Given the description of an element on the screen output the (x, y) to click on. 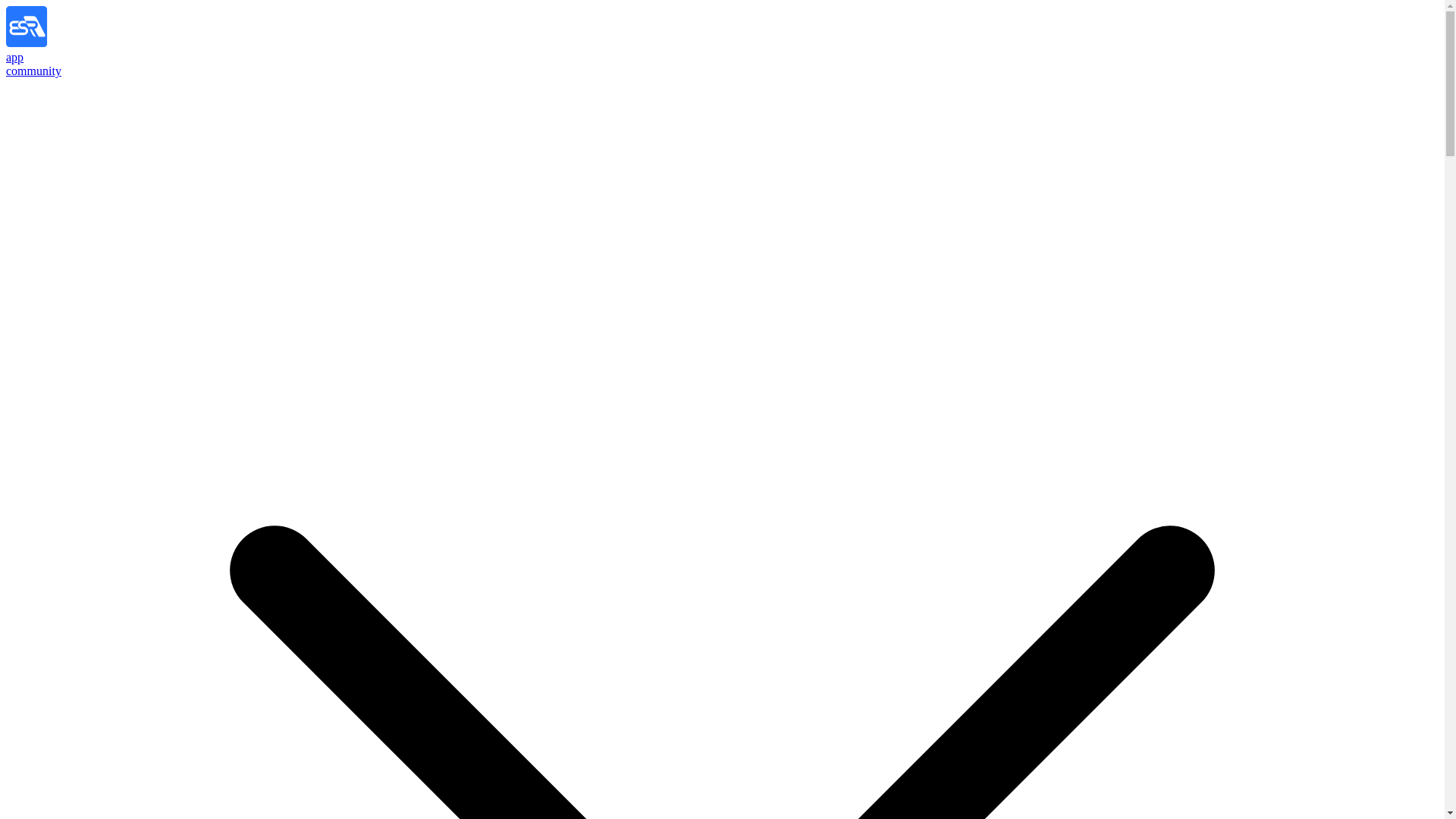
Eat Sleep Ride Home (52, 42)
app (14, 56)
community (33, 70)
